Given the description of an element on the screen output the (x, y) to click on. 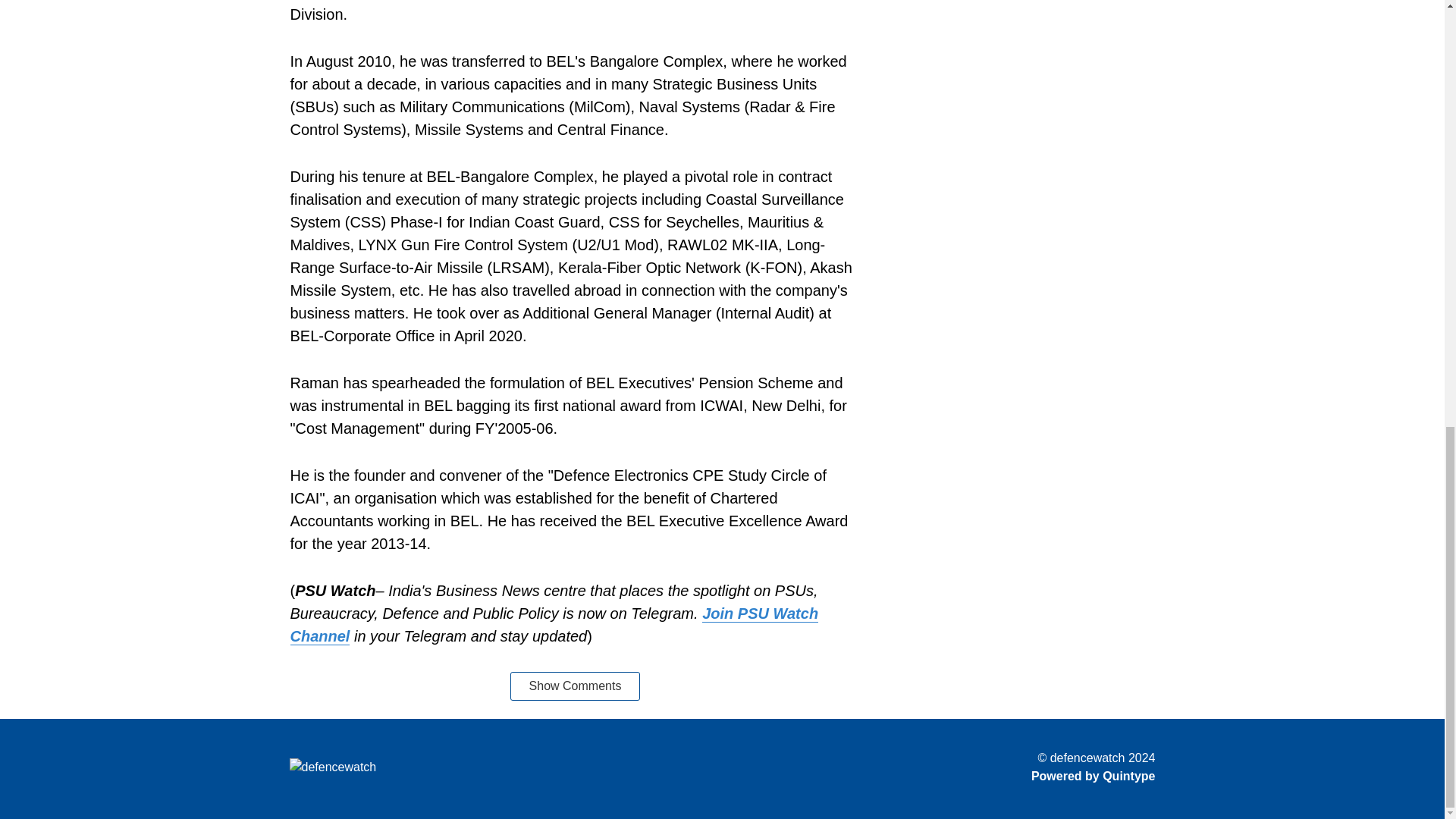
Powered by Quintype (1093, 776)
Show Comments (575, 686)
Join PSU Watch Channel (553, 625)
